Given the description of an element on the screen output the (x, y) to click on. 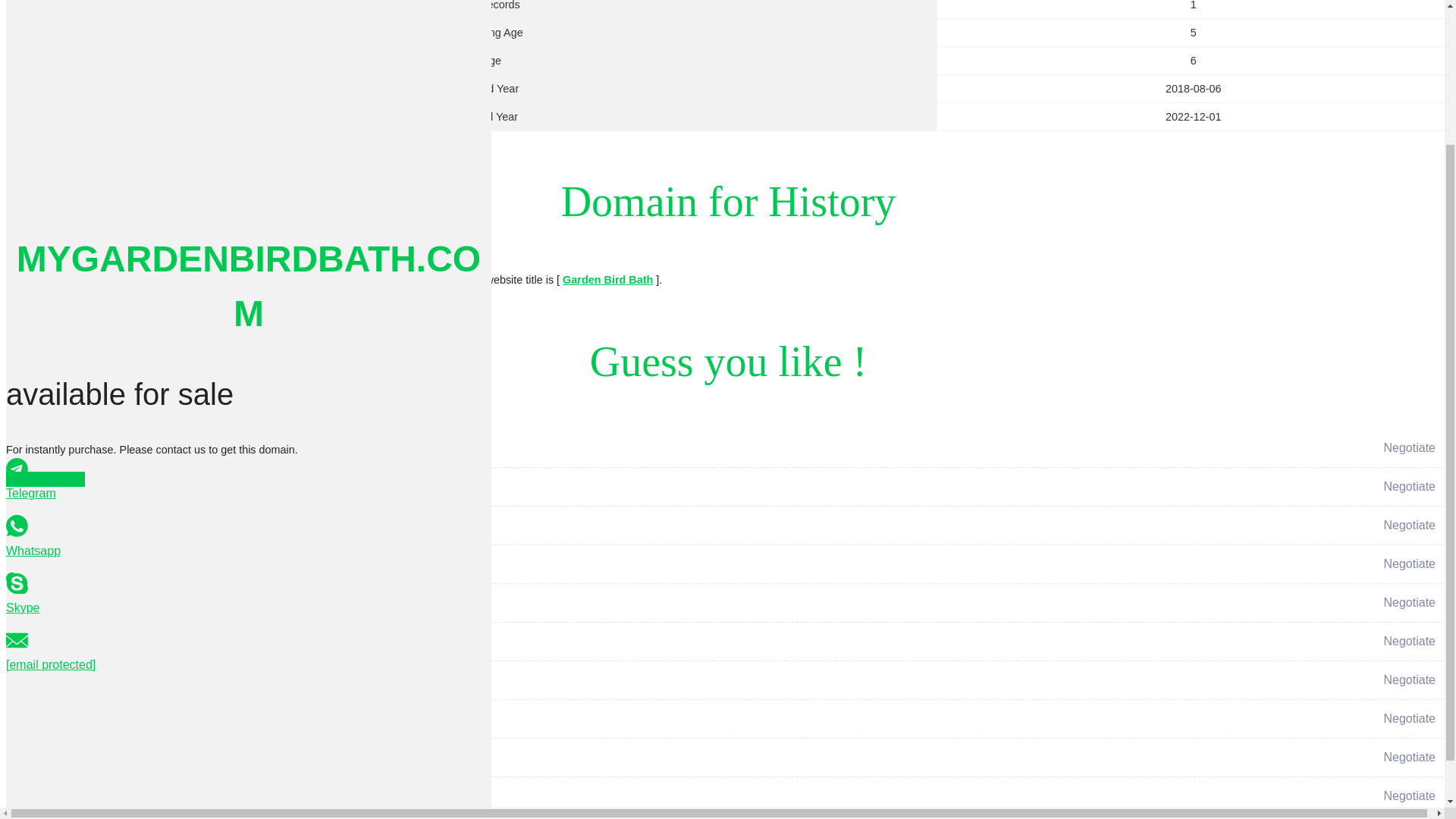
premfaces.com (488, 576)
whatbody.com (488, 460)
orthodoxinfo.net (488, 614)
orthodoxinfo.net (488, 614)
Email (44, 303)
mitchcowart.com (488, 653)
ajparts.net (488, 692)
Skype (248, 418)
mitchcowart.com (488, 653)
fr-coaching.com (488, 498)
orthodoxinfo.net (488, 614)
Whatsapp (248, 361)
Email (248, 475)
Skype (248, 418)
wcumc.org (488, 537)
